Given the description of an element on the screen output the (x, y) to click on. 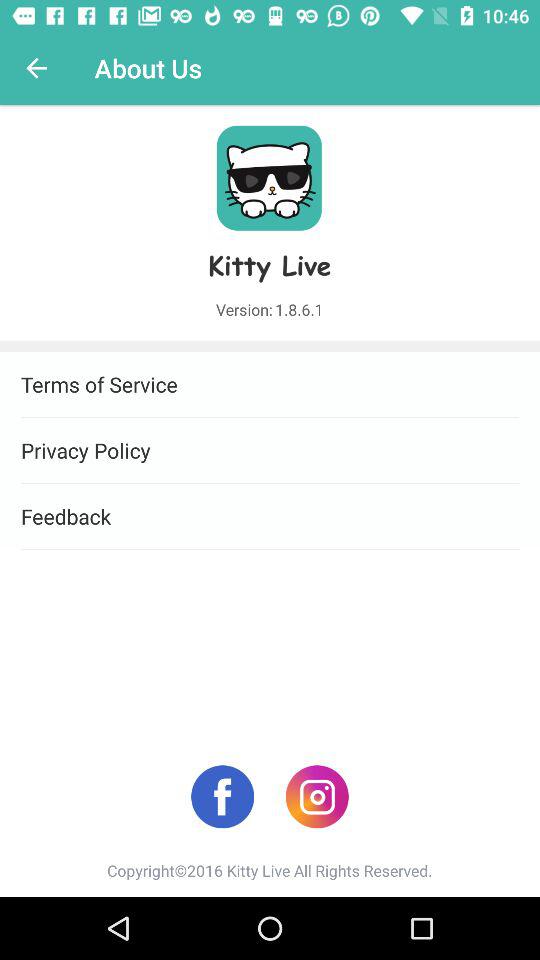
share to facebook (222, 796)
